Given the description of an element on the screen output the (x, y) to click on. 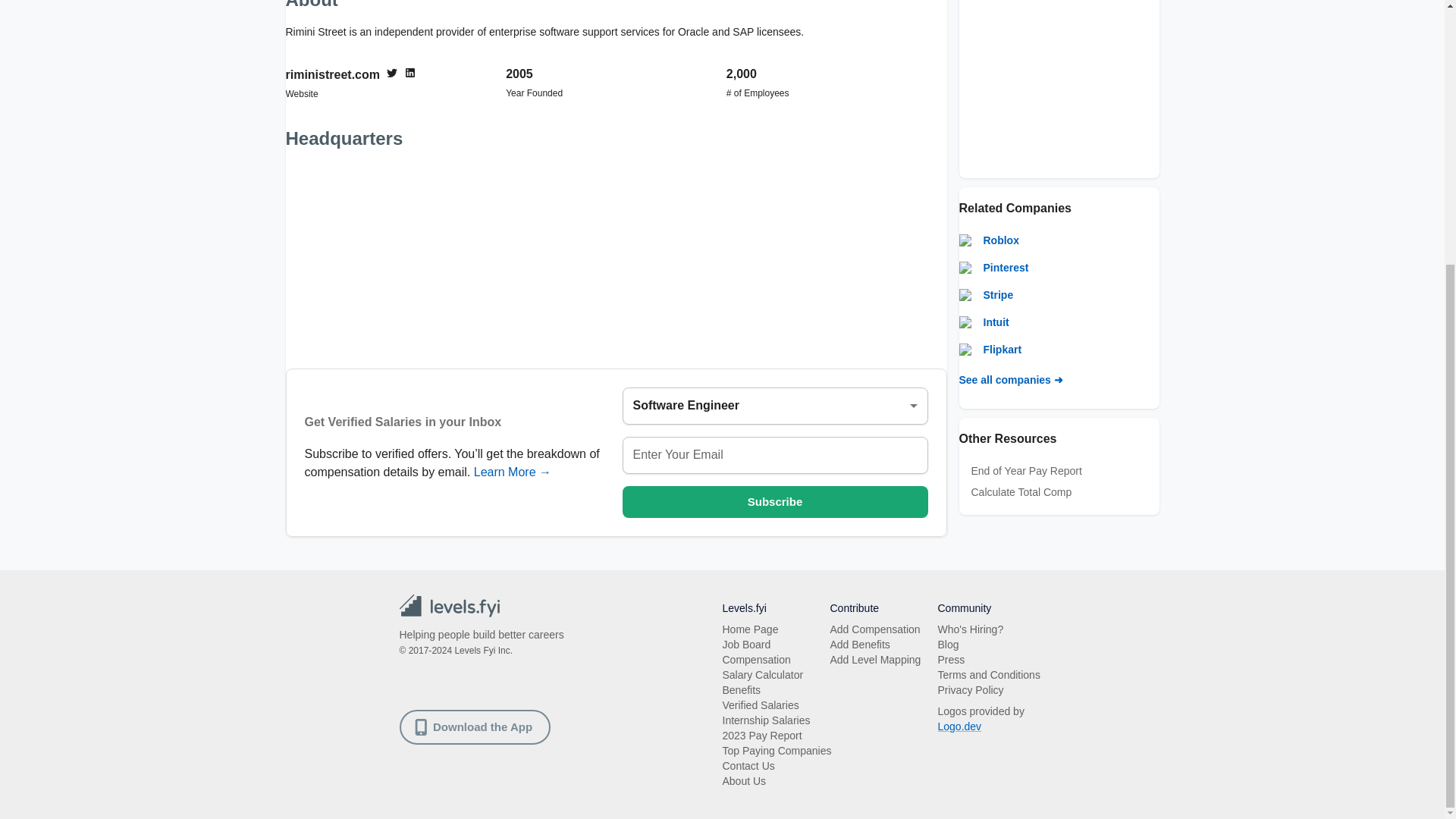
Company Address (615, 257)
